Given the description of an element on the screen output the (x, y) to click on. 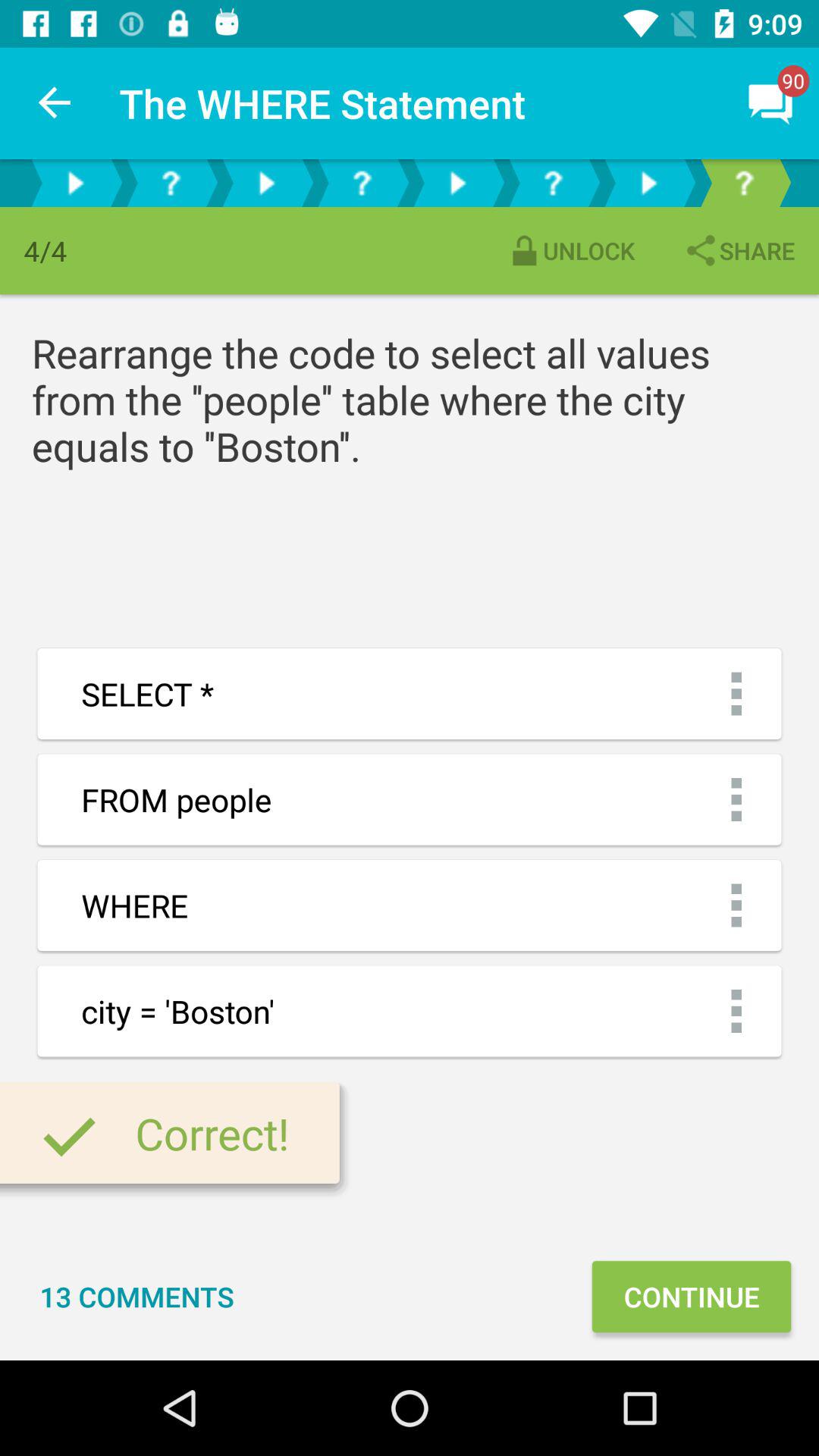
step into (648, 183)
